Given the description of an element on the screen output the (x, y) to click on. 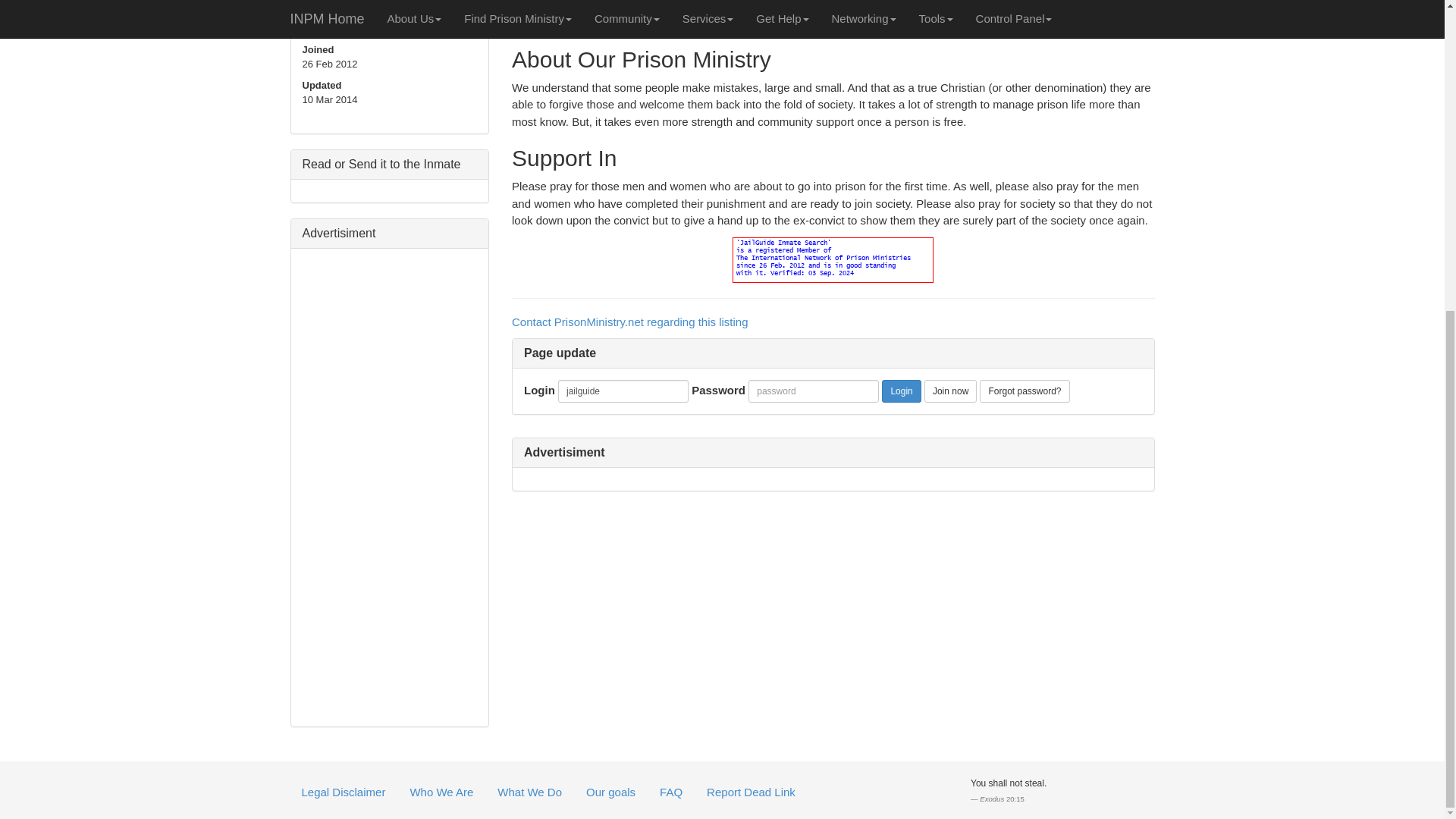
jailguide (622, 391)
Login (901, 391)
Exodus (991, 798)
